Given the description of an element on the screen output the (x, y) to click on. 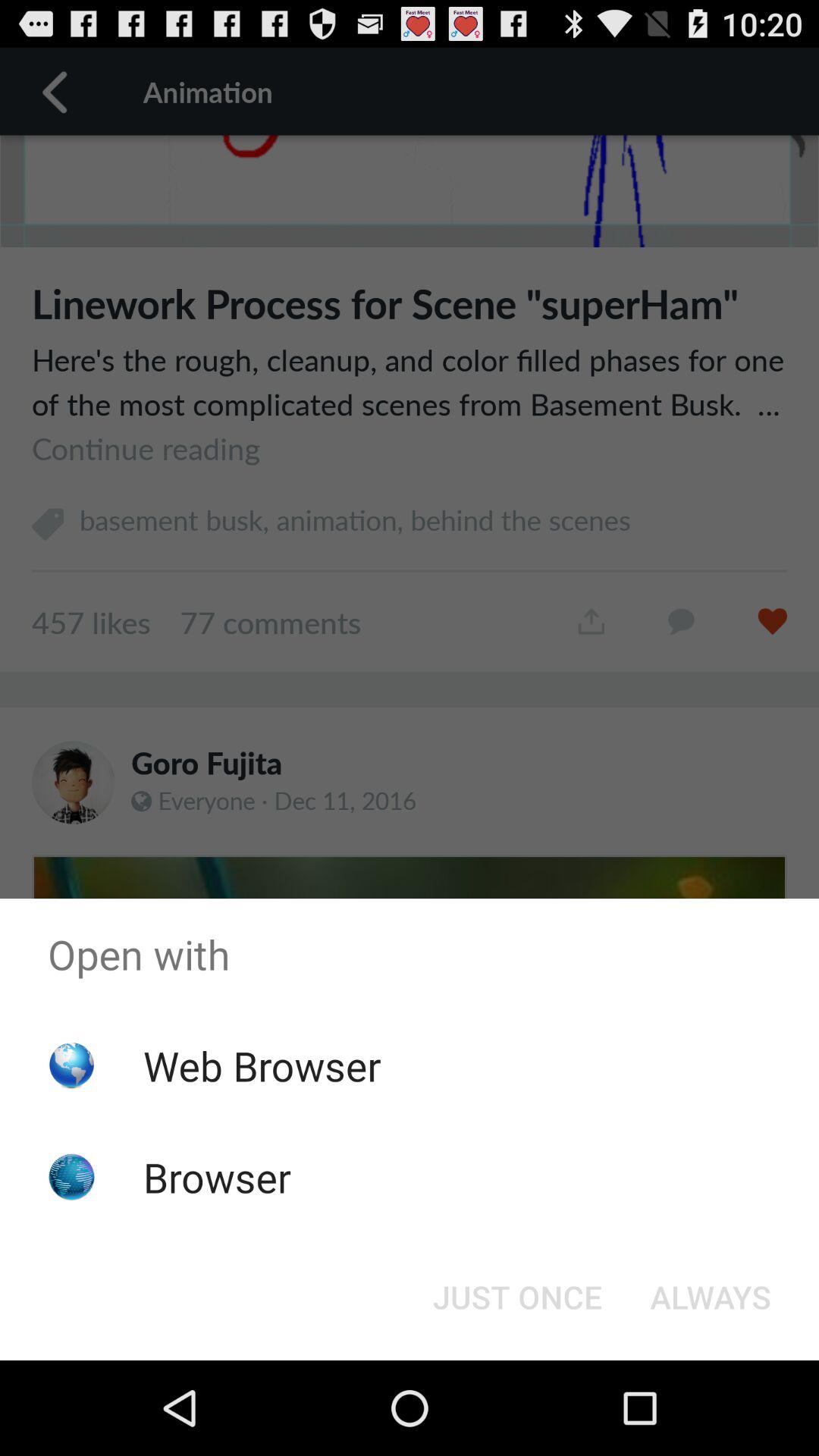
jump until web browser (262, 1065)
